Given the description of an element on the screen output the (x, y) to click on. 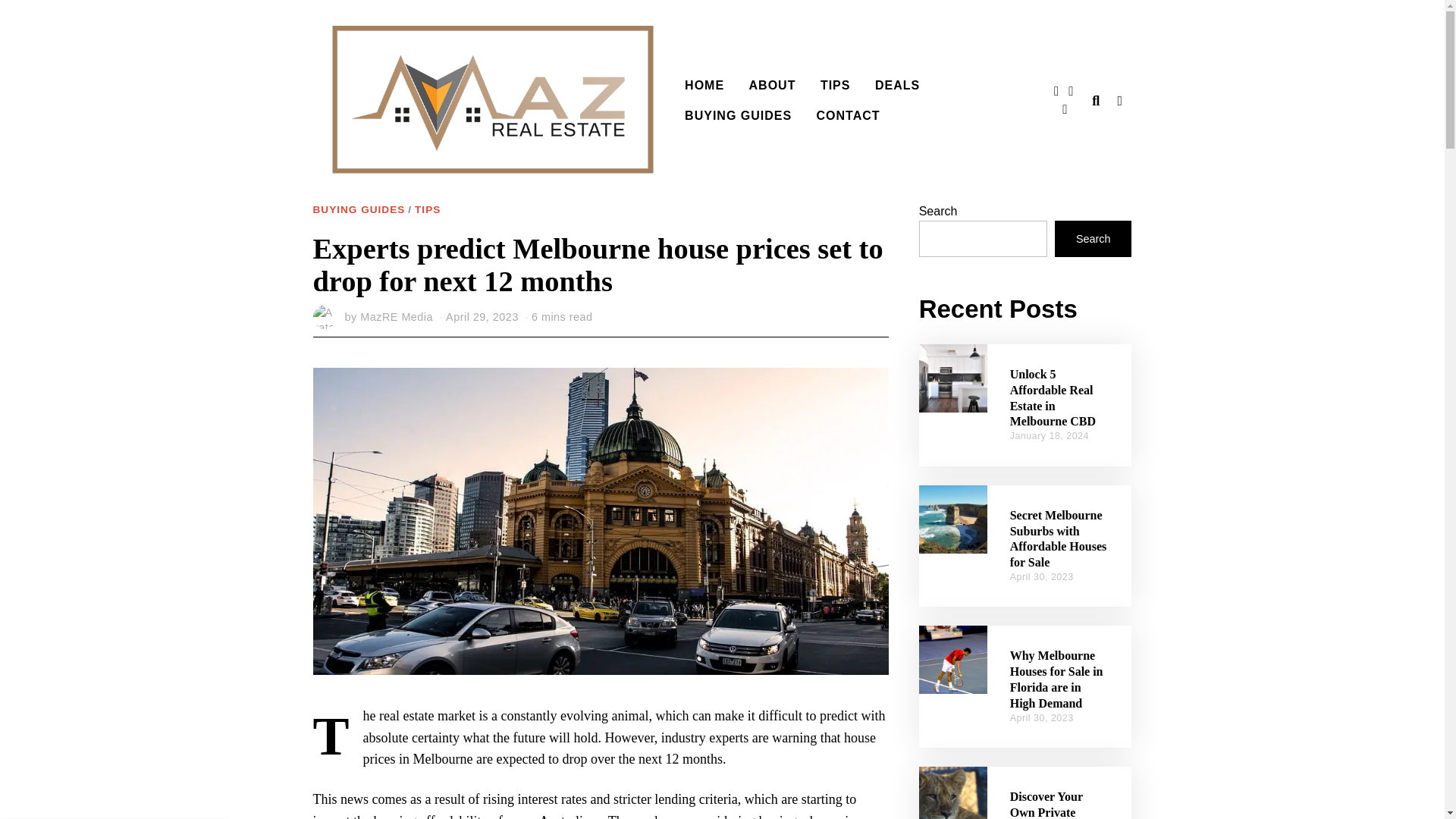
BUYING GUIDES (738, 115)
TIPS (835, 85)
BUYING GUIDES (358, 210)
Instagram (1064, 109)
DEALS (897, 85)
TIPS (427, 210)
Twitter (1070, 91)
CONTACT (848, 115)
Facebook (1055, 91)
ABOUT (772, 85)
MazRE Media (395, 316)
HOME (704, 85)
